Given the description of an element on the screen output the (x, y) to click on. 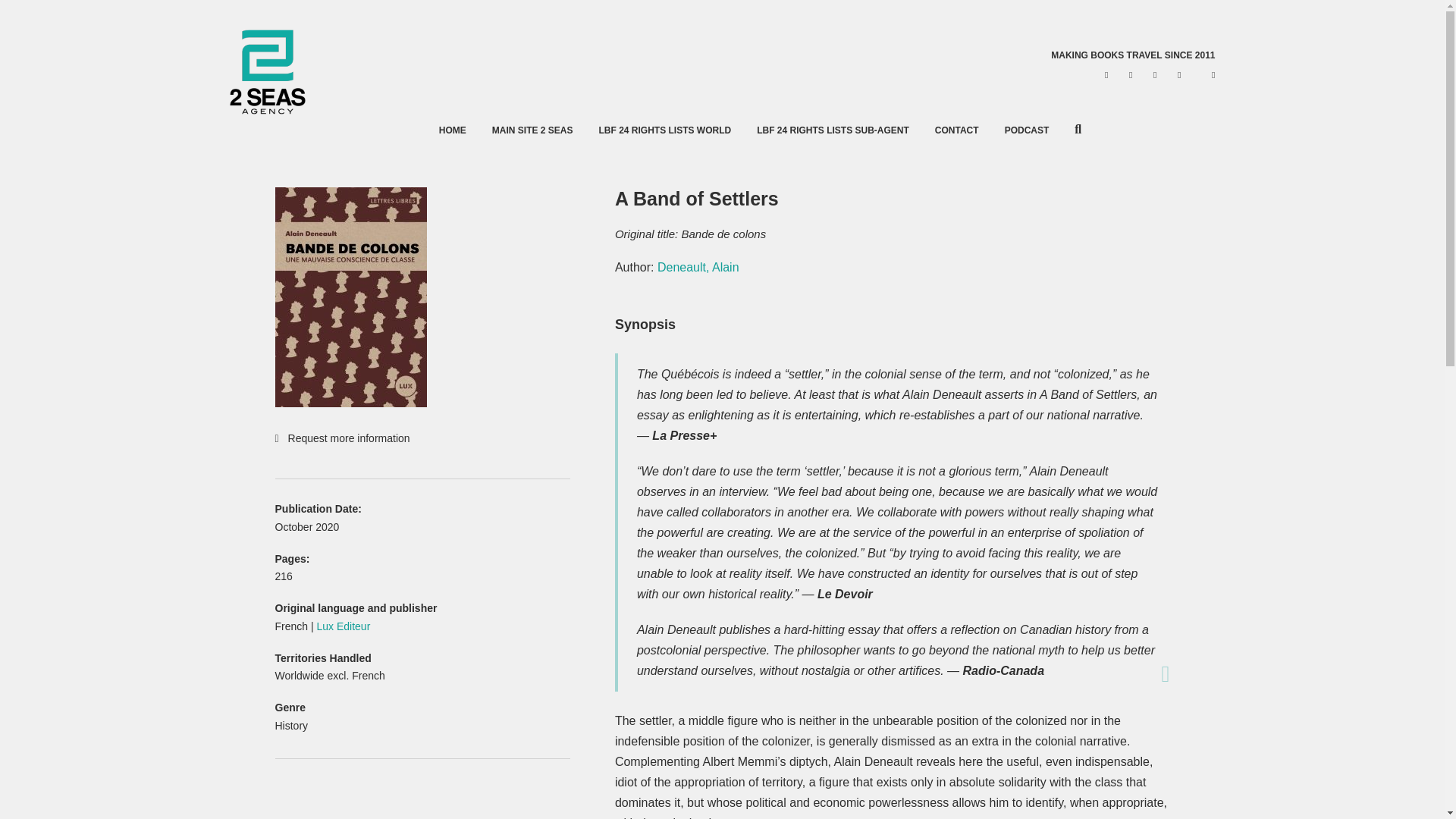
Deneault, Alain (698, 267)
Lux Editeur (344, 625)
MAIN SITE 2 SEAS (532, 130)
PODCAST (1026, 130)
CONTACT (956, 130)
Request more information (422, 437)
LBF 24 RIGHTS LISTS WORLD (664, 130)
LBF 24 RIGHTS LISTS SUB-AGENT (832, 130)
